Given the description of an element on the screen output the (x, y) to click on. 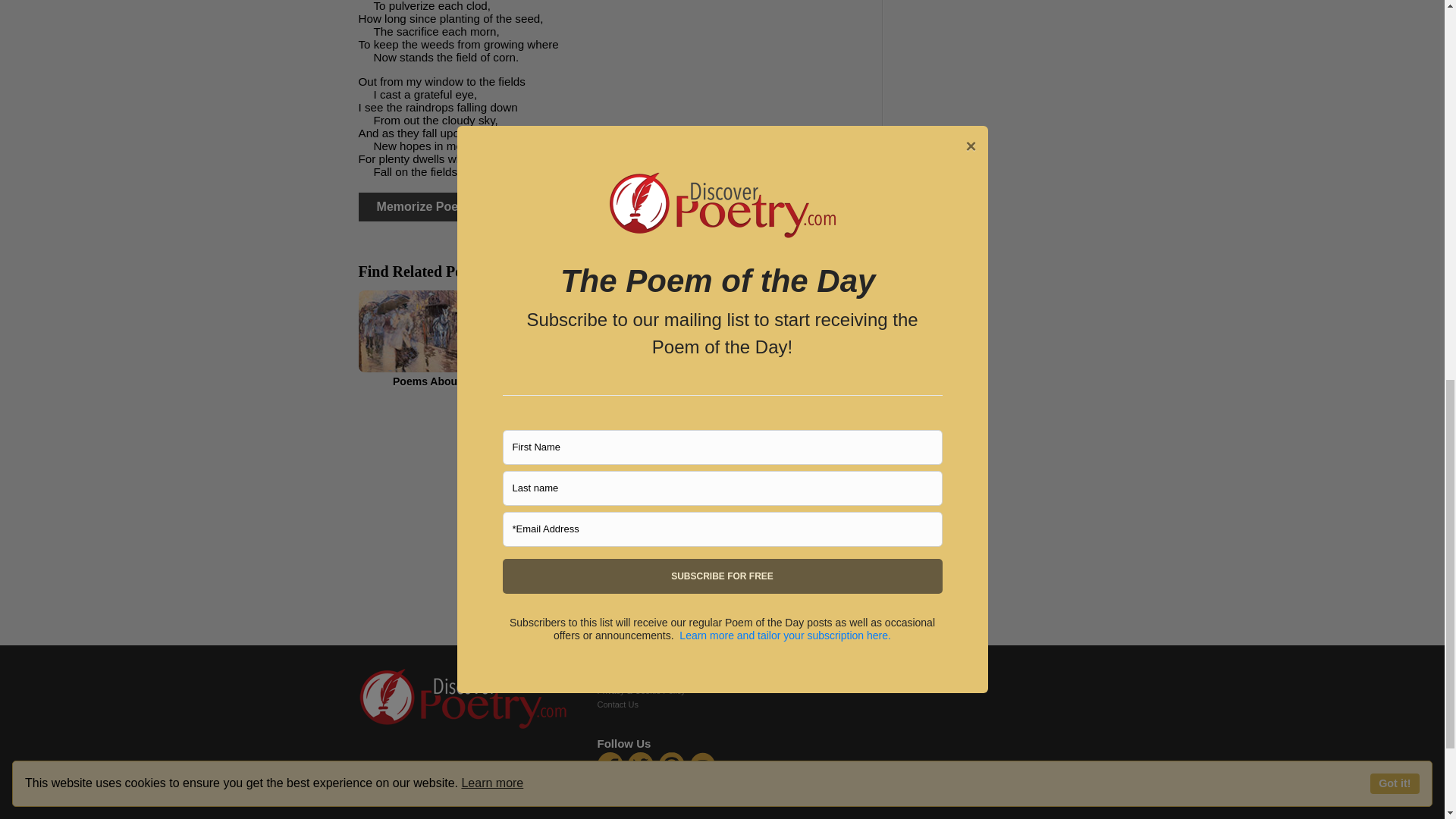
Contact Us (617, 704)
Farm Poems (785, 338)
Corn Poems (613, 338)
Poems About Rain (439, 338)
